Given the description of an element on the screen output the (x, y) to click on. 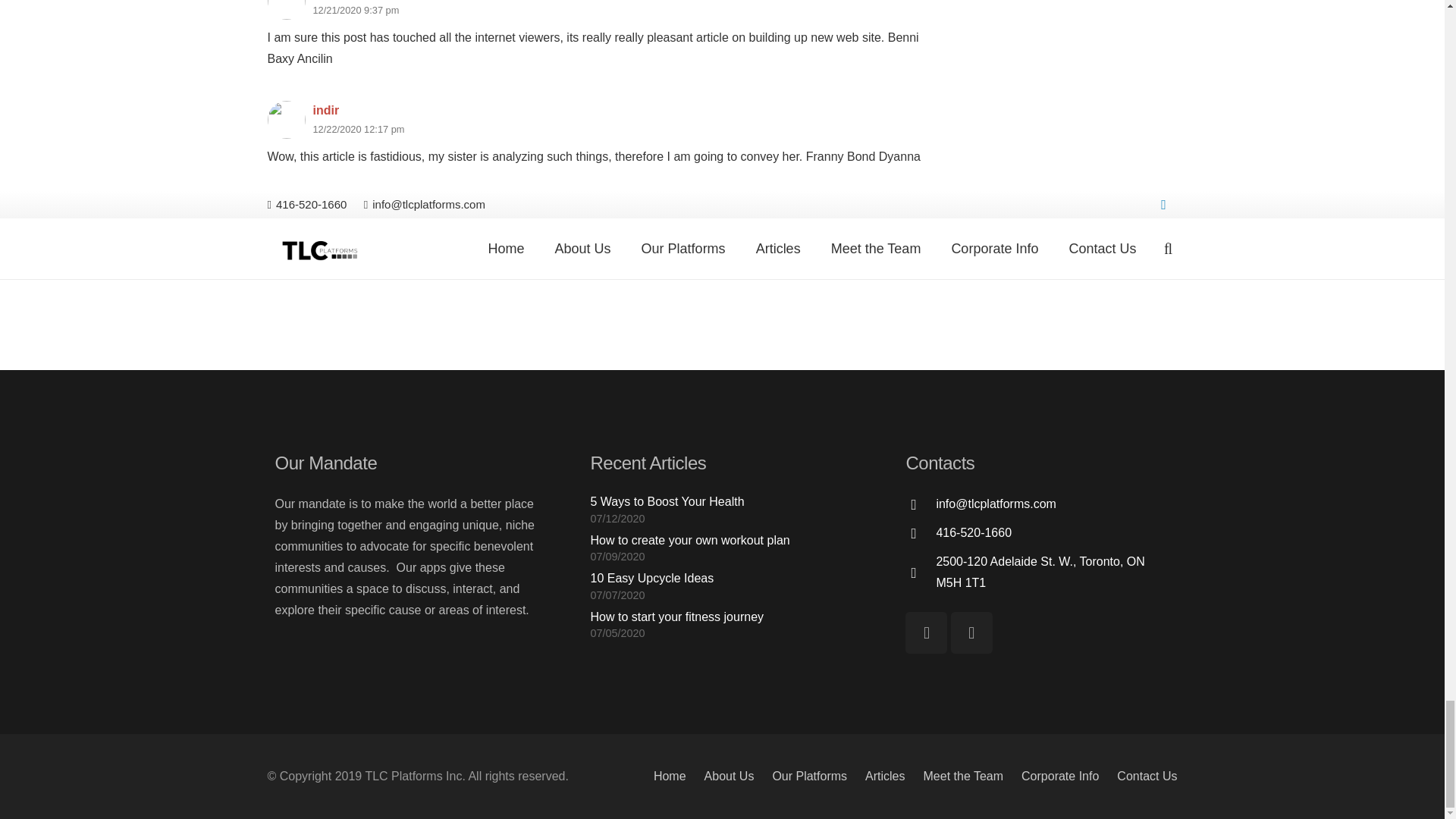
LinkedIn (971, 632)
Email (926, 632)
